Given the description of an element on the screen output the (x, y) to click on. 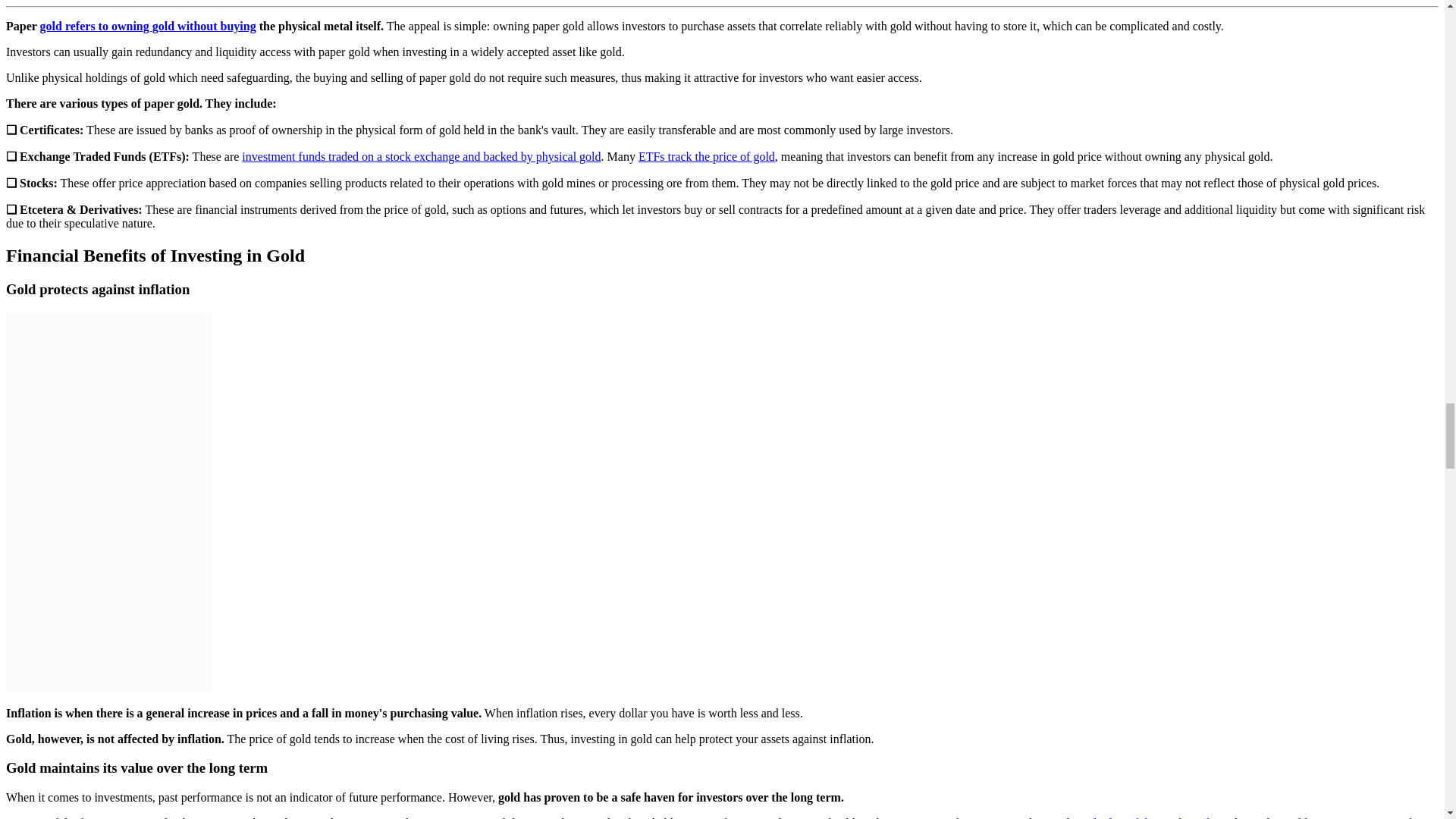
gold refers to owning gold without buying (148, 25)
volatility of the stock market (1151, 817)
ETFs track the price of gold (706, 155)
Investing In Gold Tax Free (108, 501)
